Given the description of an element on the screen output the (x, y) to click on. 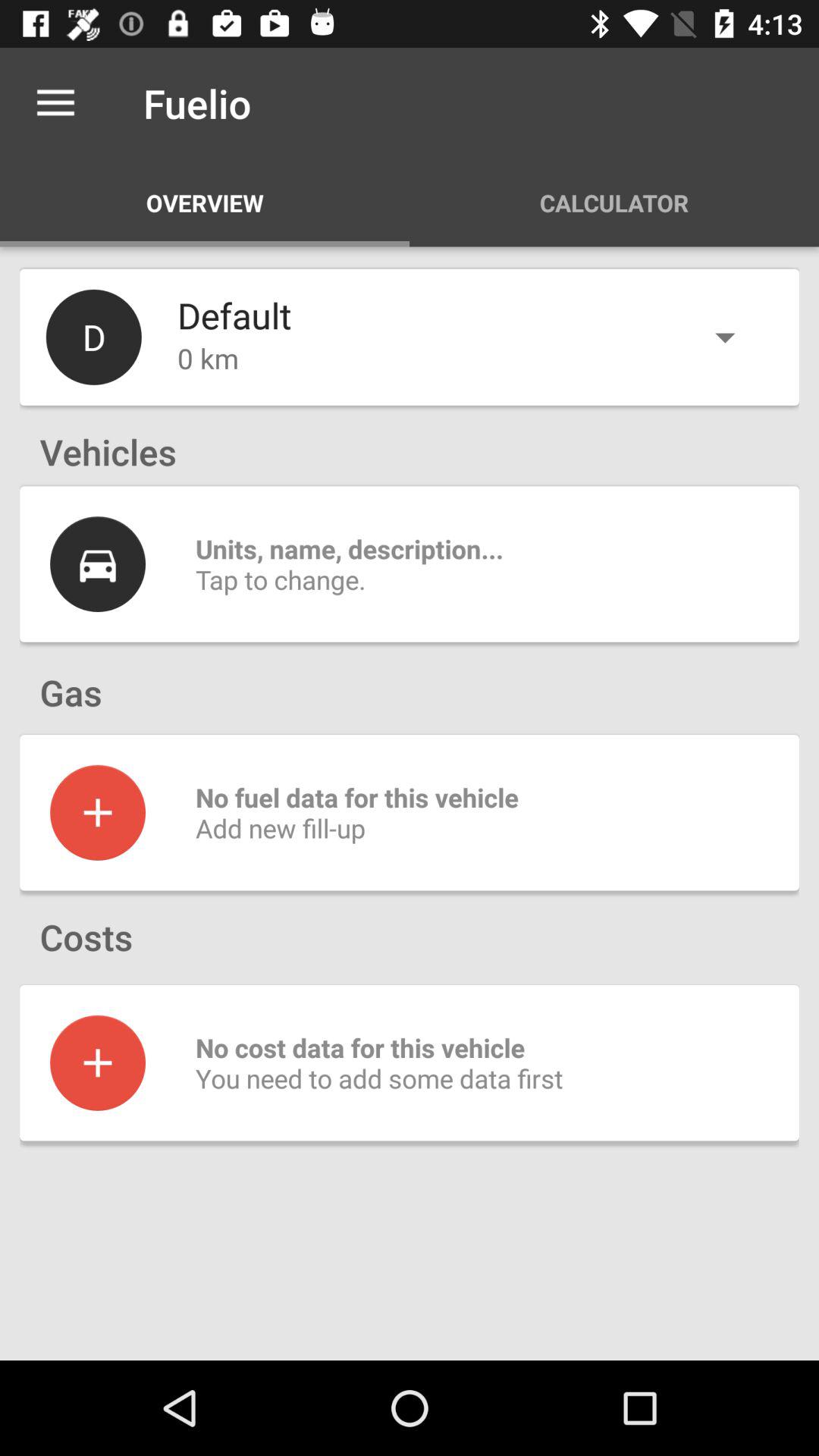
to go screenshot (97, 812)
